Given the description of an element on the screen output the (x, y) to click on. 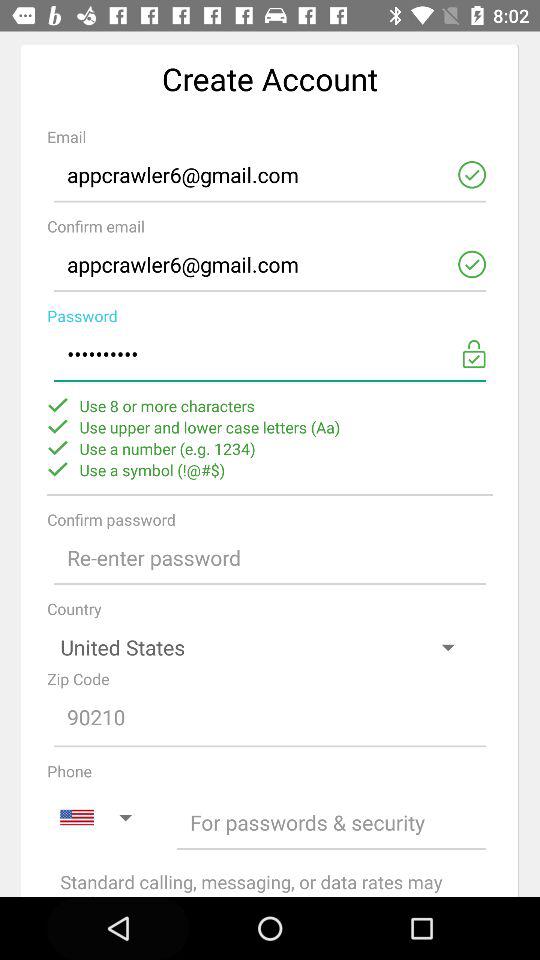
open text box (270, 557)
